Given the description of an element on the screen output the (x, y) to click on. 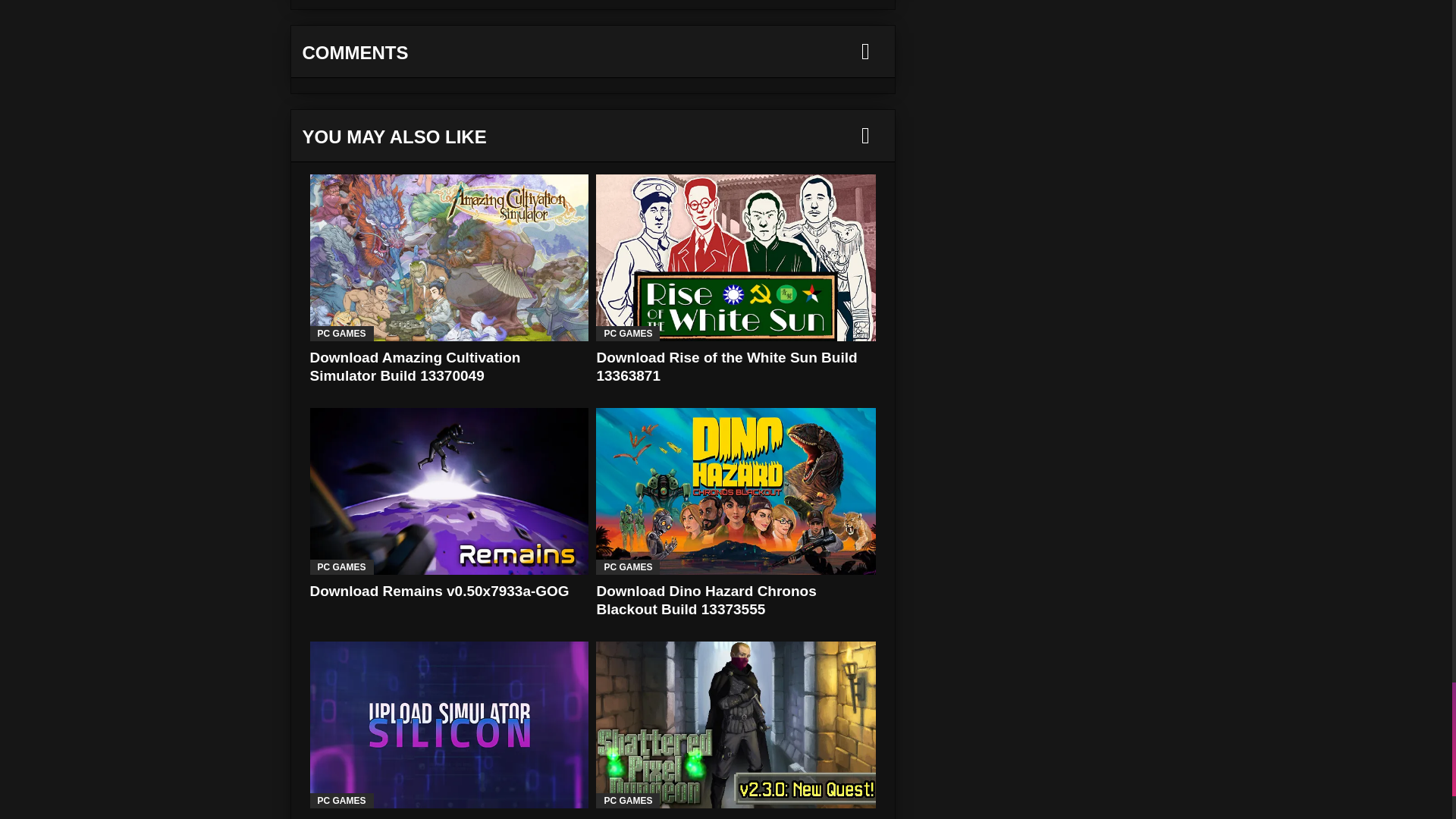
Download Amazing Cultivation Simulator Build 13370049 (413, 366)
PC Games (340, 333)
Download Amazing Cultivation Simulator Build 13370049 (413, 366)
PC GAMES (340, 333)
Download Amazing Cultivation Simulator Build 13370049 (448, 257)
